Given the description of an element on the screen output the (x, y) to click on. 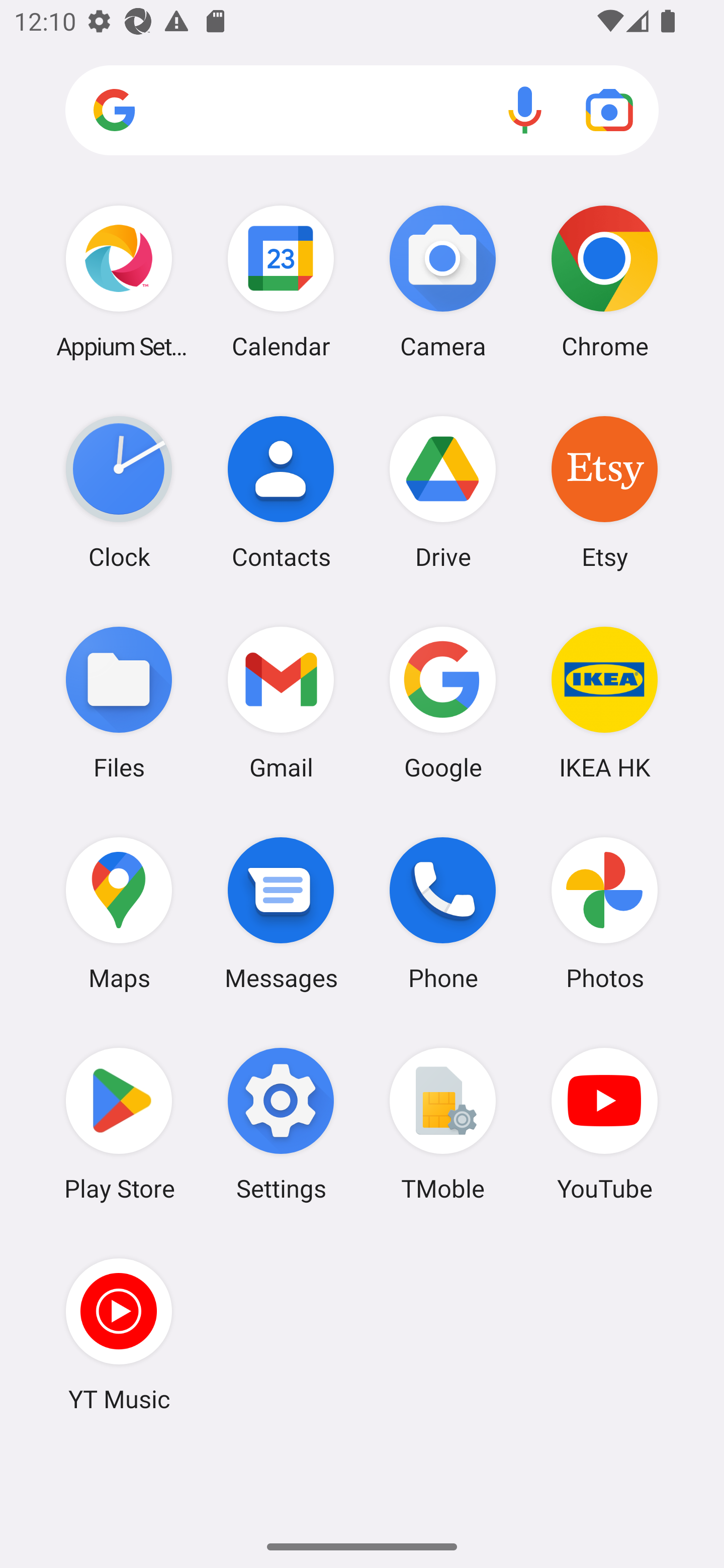
Search apps, web and more (361, 110)
Voice search (524, 109)
Google Lens (608, 109)
Appium Settings (118, 281)
Calendar (280, 281)
Camera (443, 281)
Chrome (604, 281)
Clock (118, 492)
Contacts (280, 492)
Drive (443, 492)
Etsy (604, 492)
Files (118, 702)
Gmail (280, 702)
Google (443, 702)
IKEA HK (604, 702)
Maps (118, 913)
Messages (280, 913)
Phone (443, 913)
Photos (604, 913)
Play Store (118, 1124)
Settings (280, 1124)
TMoble (443, 1124)
YouTube (604, 1124)
YT Music (118, 1334)
